Given the description of an element on the screen output the (x, y) to click on. 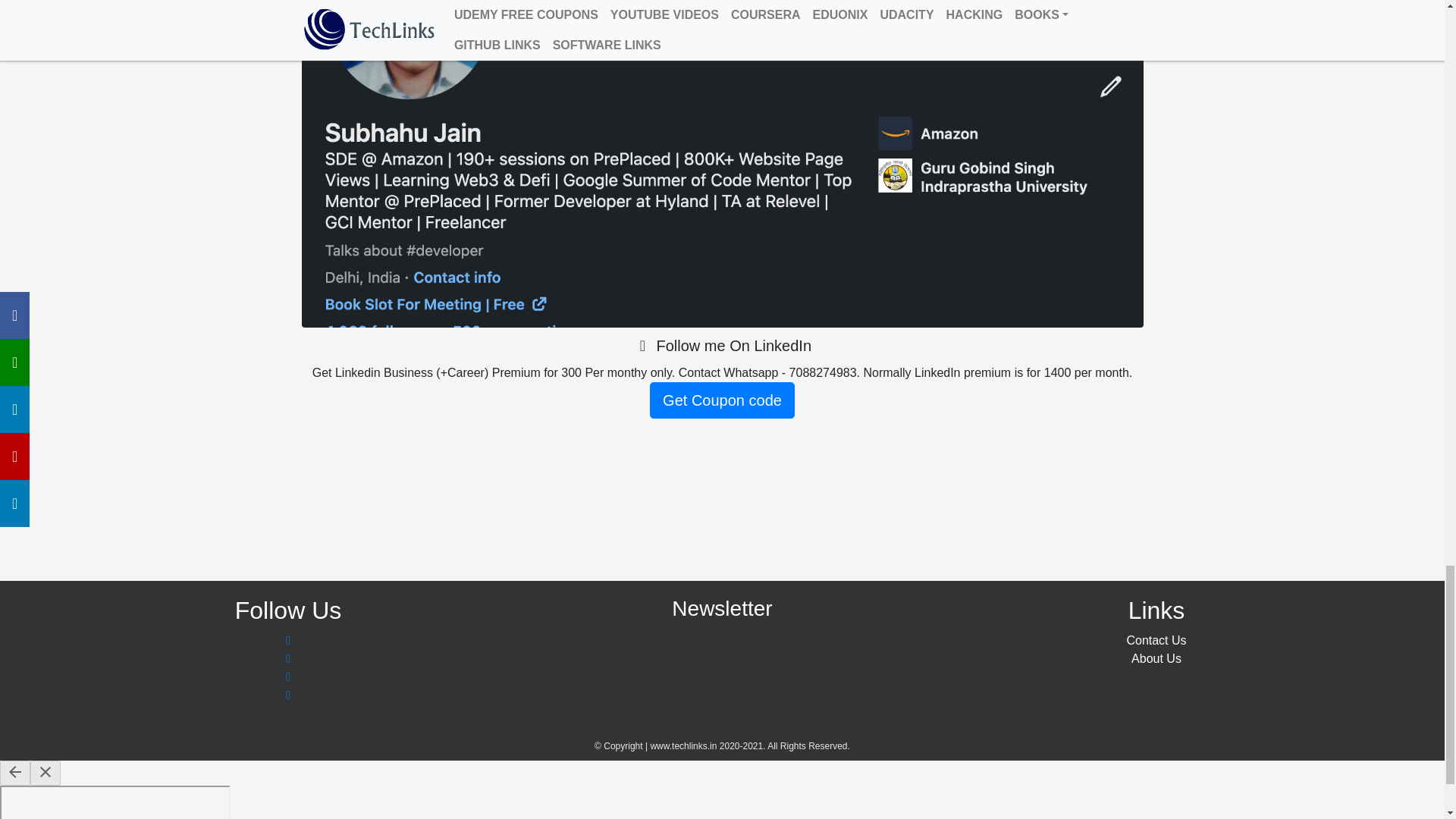
About Us (1155, 658)
Get Coupon code (721, 400)
LinkedIn (722, 345)
Contact Us (1155, 640)
Follow me On LinkedIn (722, 345)
